Given the description of an element on the screen output the (x, y) to click on. 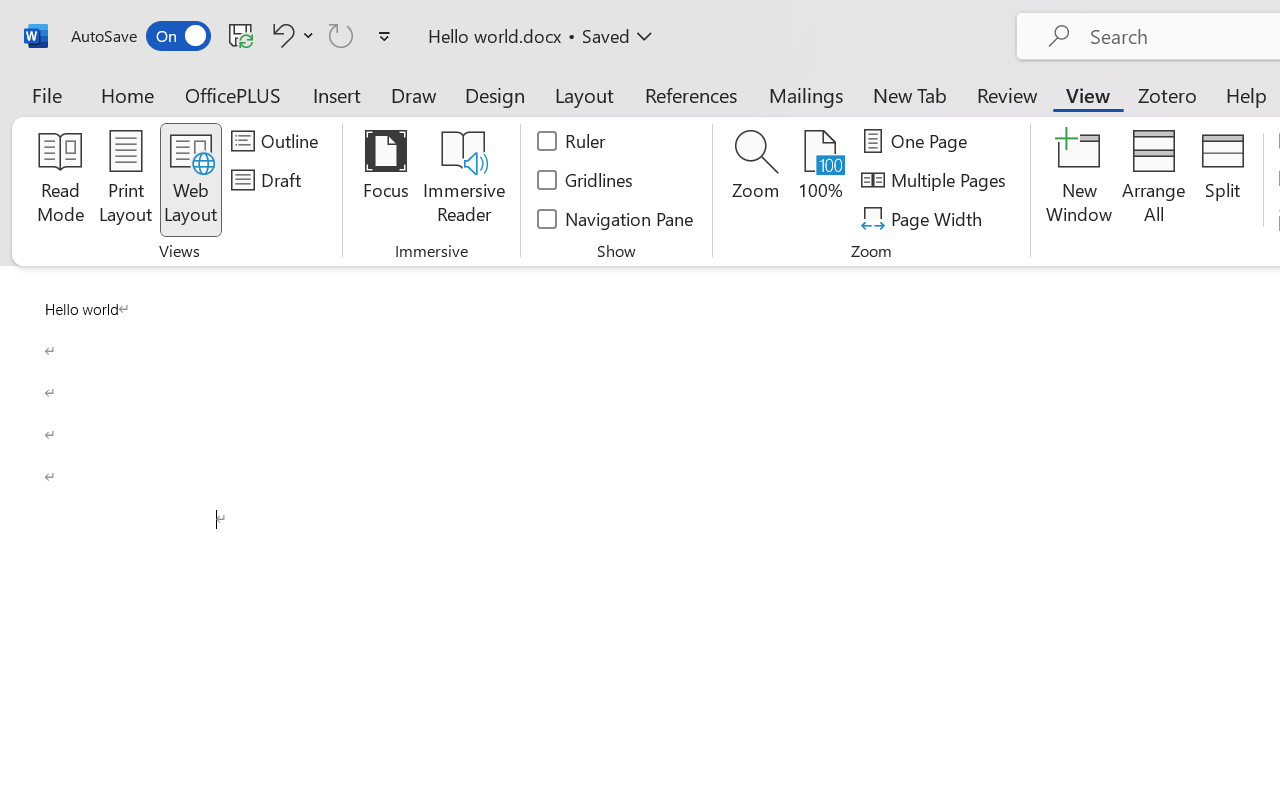
Layout (584, 94)
Save (241, 35)
Can't Repeat (341, 35)
References (690, 94)
Review (1007, 94)
Customize Quick Access Toolbar (384, 35)
Arrange All (1153, 179)
Undo Paragraph Formatting (290, 35)
Outline (278, 141)
More Options (308, 35)
Draft (269, 179)
Print Layout (125, 179)
